Given the description of an element on the screen output the (x, y) to click on. 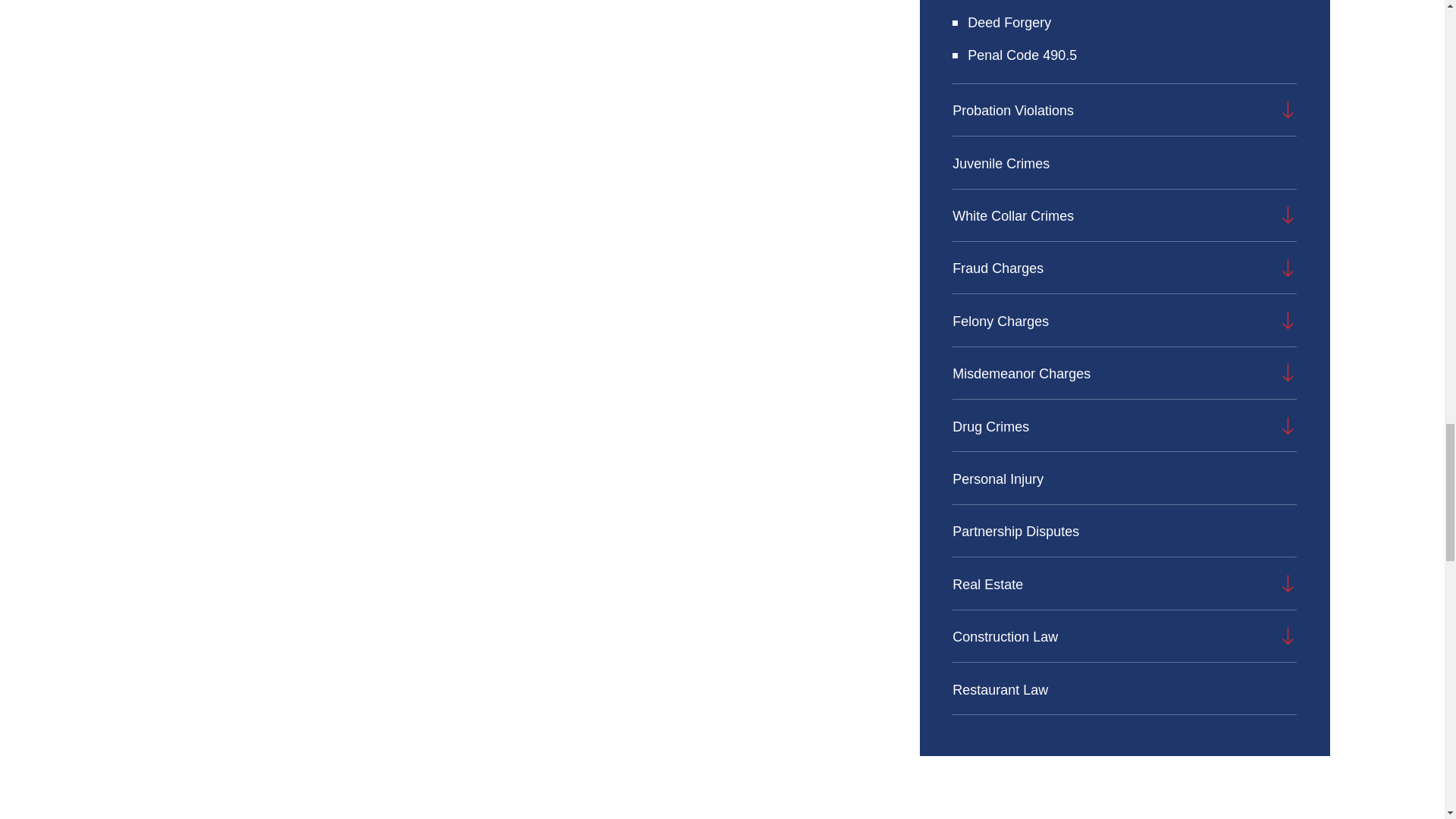
Open child menu of White Collar Crimes (1288, 214)
Open child menu of Probation Violations (1288, 108)
Open child menu of Fraud Charges (1288, 267)
